Given the description of an element on the screen output the (x, y) to click on. 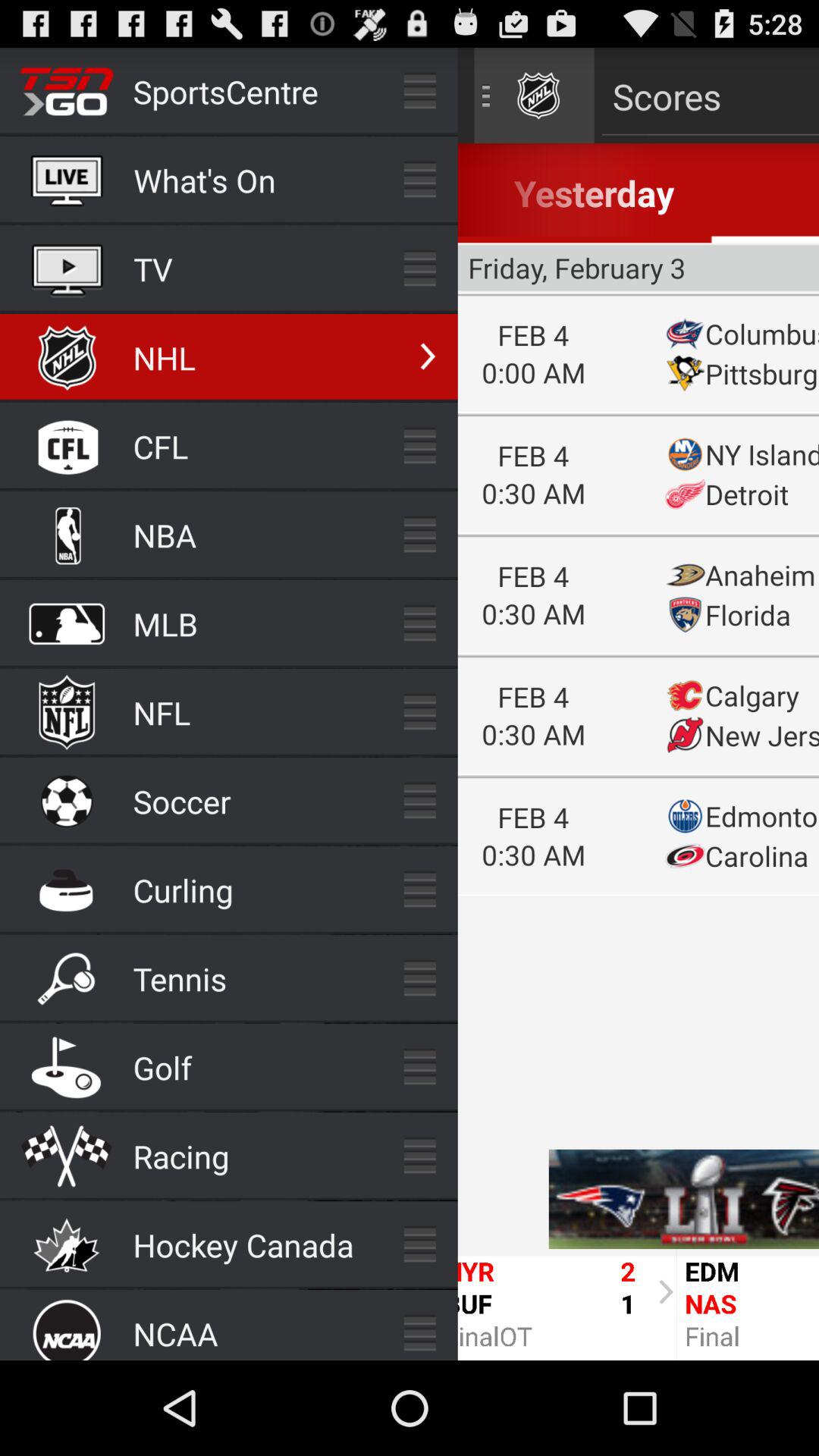
return to main screen (638, 703)
